Given the description of an element on the screen output the (x, y) to click on. 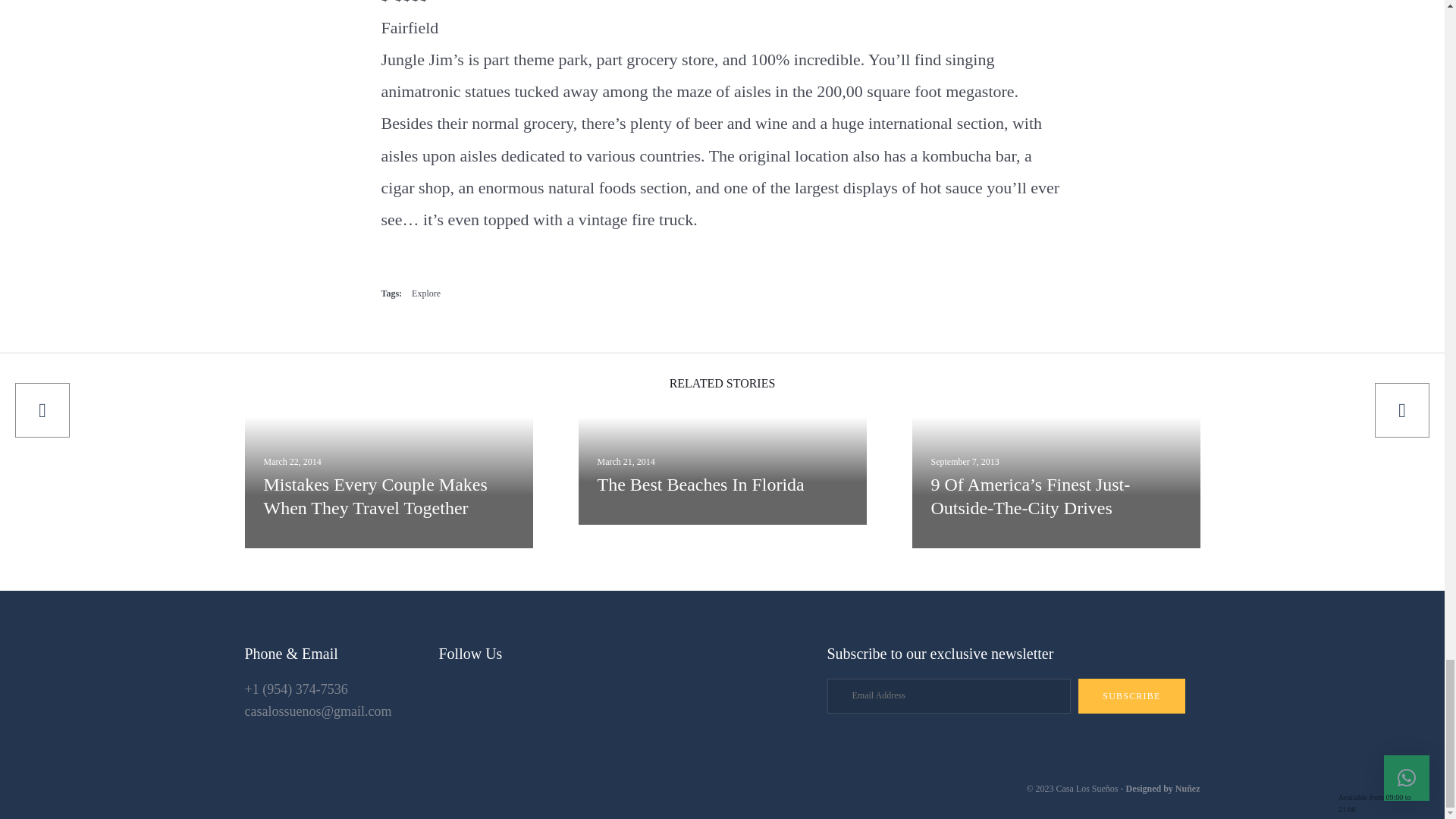
SUBSCRIBE (1131, 695)
March 22, 2014 (292, 461)
The Best Beaches In Florida (625, 461)
Mistakes Every Couple Makes When They Travel Together (292, 461)
Mistakes Every Couple Makes When They Travel Together (388, 496)
The Best Beaches In Florida (721, 485)
March 21, 2014 (625, 461)
Explore (426, 293)
The Best Beaches In Florida (721, 485)
September 7, 2013 (964, 461)
